Given the description of an element on the screen output the (x, y) to click on. 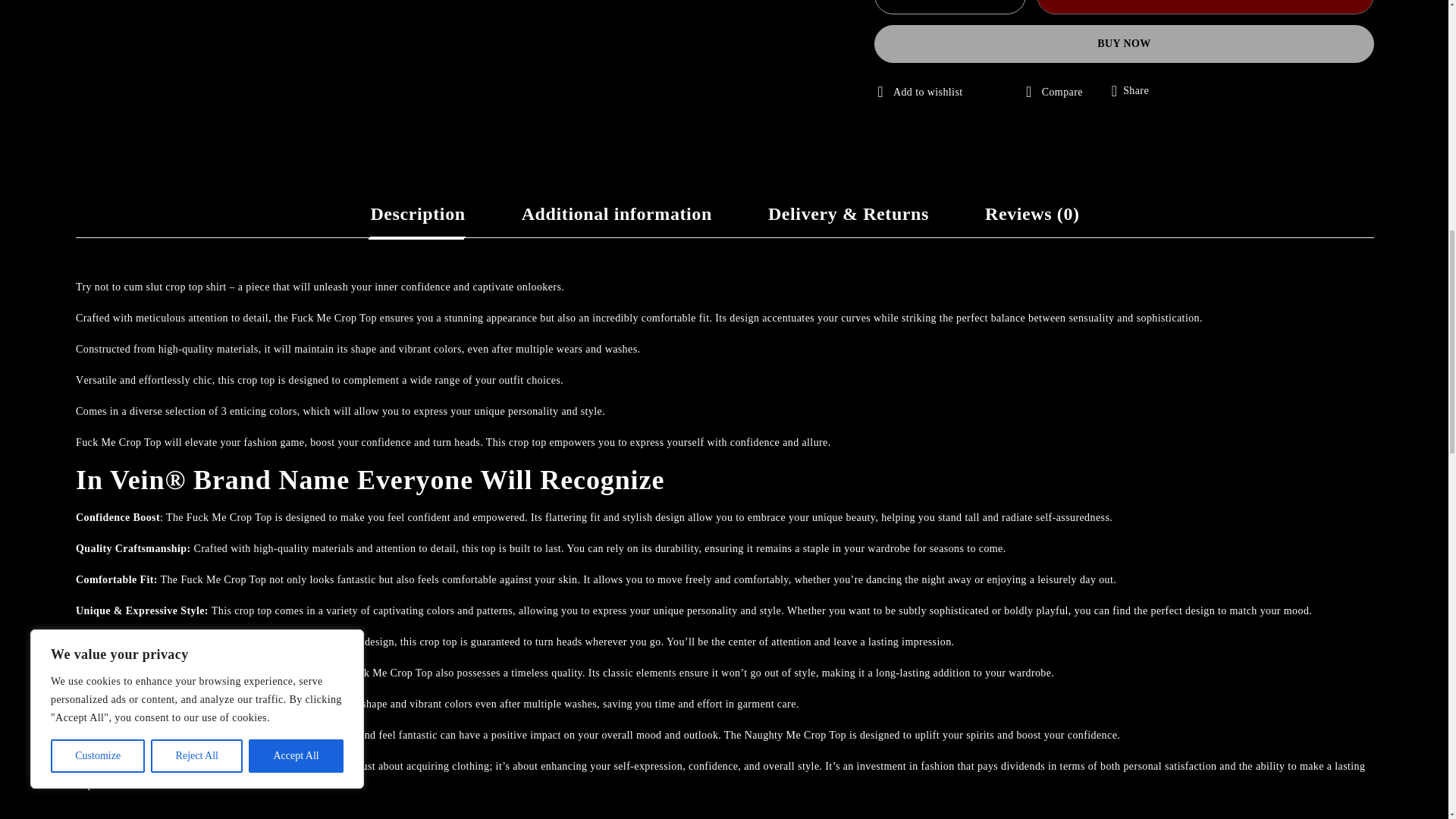
- (899, 6)
1 (950, 7)
